Given the description of an element on the screen output the (x, y) to click on. 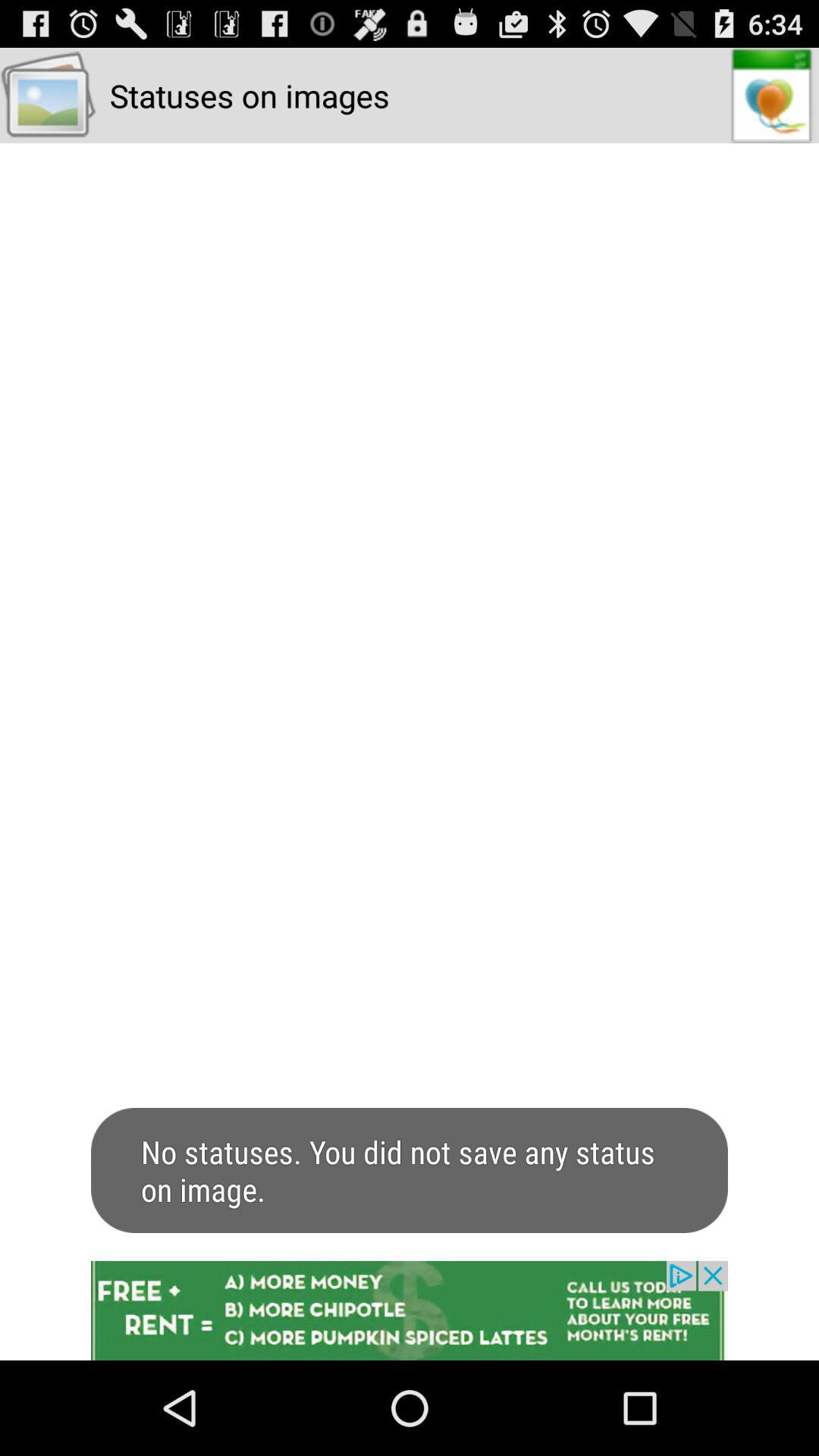
advertising bar (409, 1310)
